Given the description of an element on the screen output the (x, y) to click on. 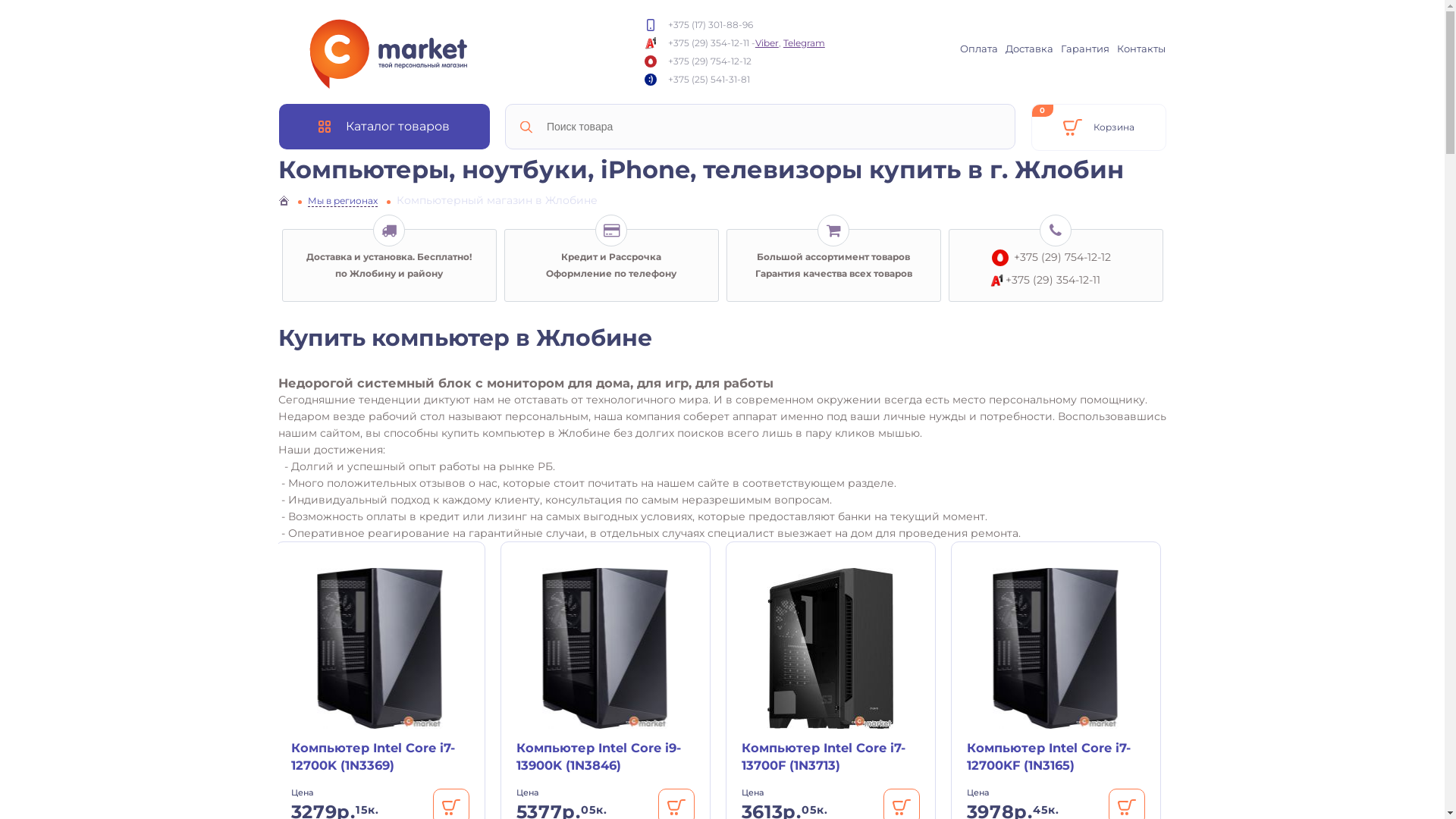
Telegram Element type: text (804, 41)
Viber Element type: text (766, 41)
